Given the description of an element on the screen output the (x, y) to click on. 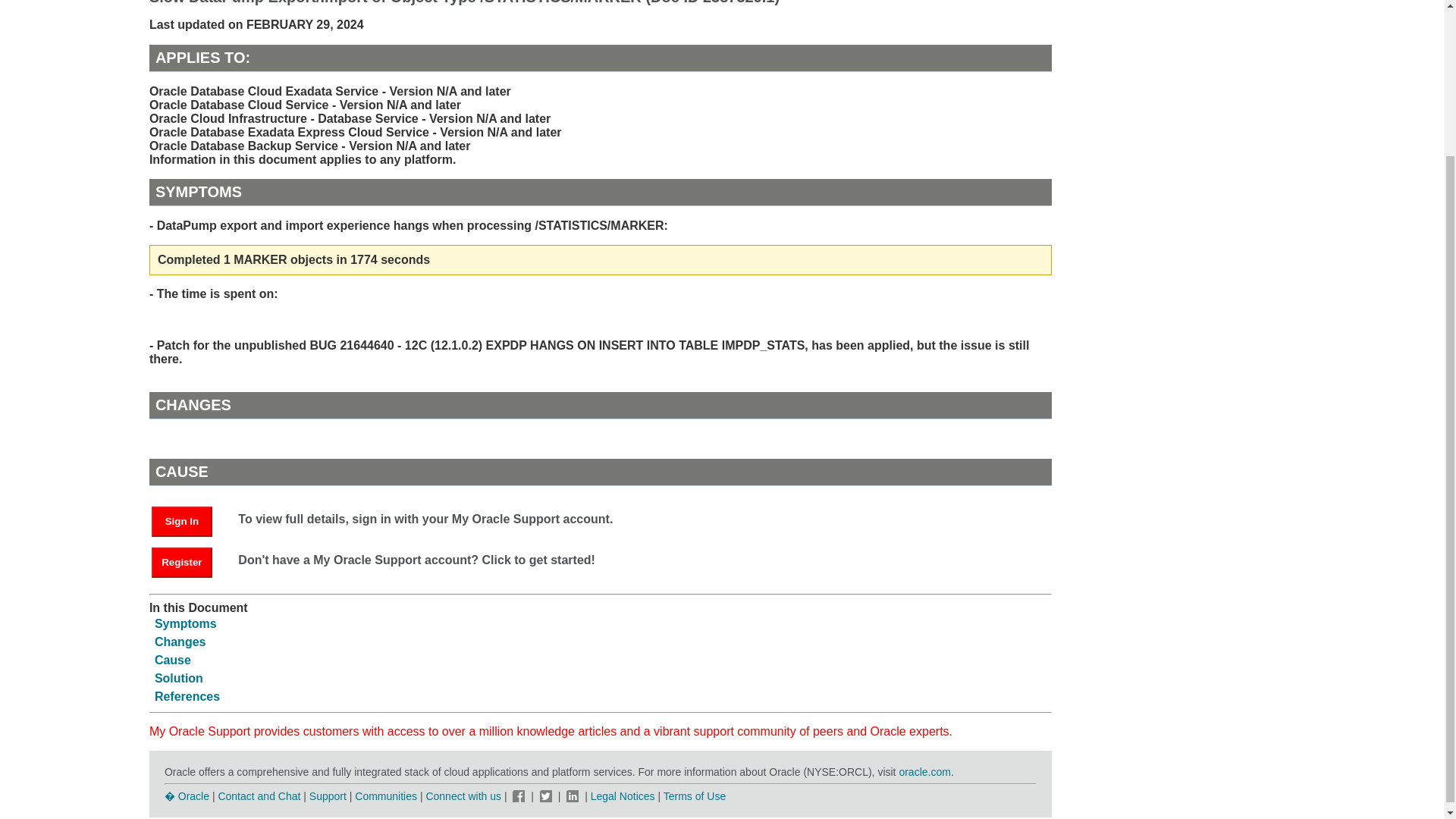
oracle.com (924, 771)
Communities (385, 796)
Register (189, 561)
Sign In (189, 520)
Solution (178, 677)
Register (181, 562)
Contact and Chat (257, 796)
Symptoms (185, 623)
oracle.com (924, 771)
Connect with us (464, 796)
